Given the description of an element on the screen output the (x, y) to click on. 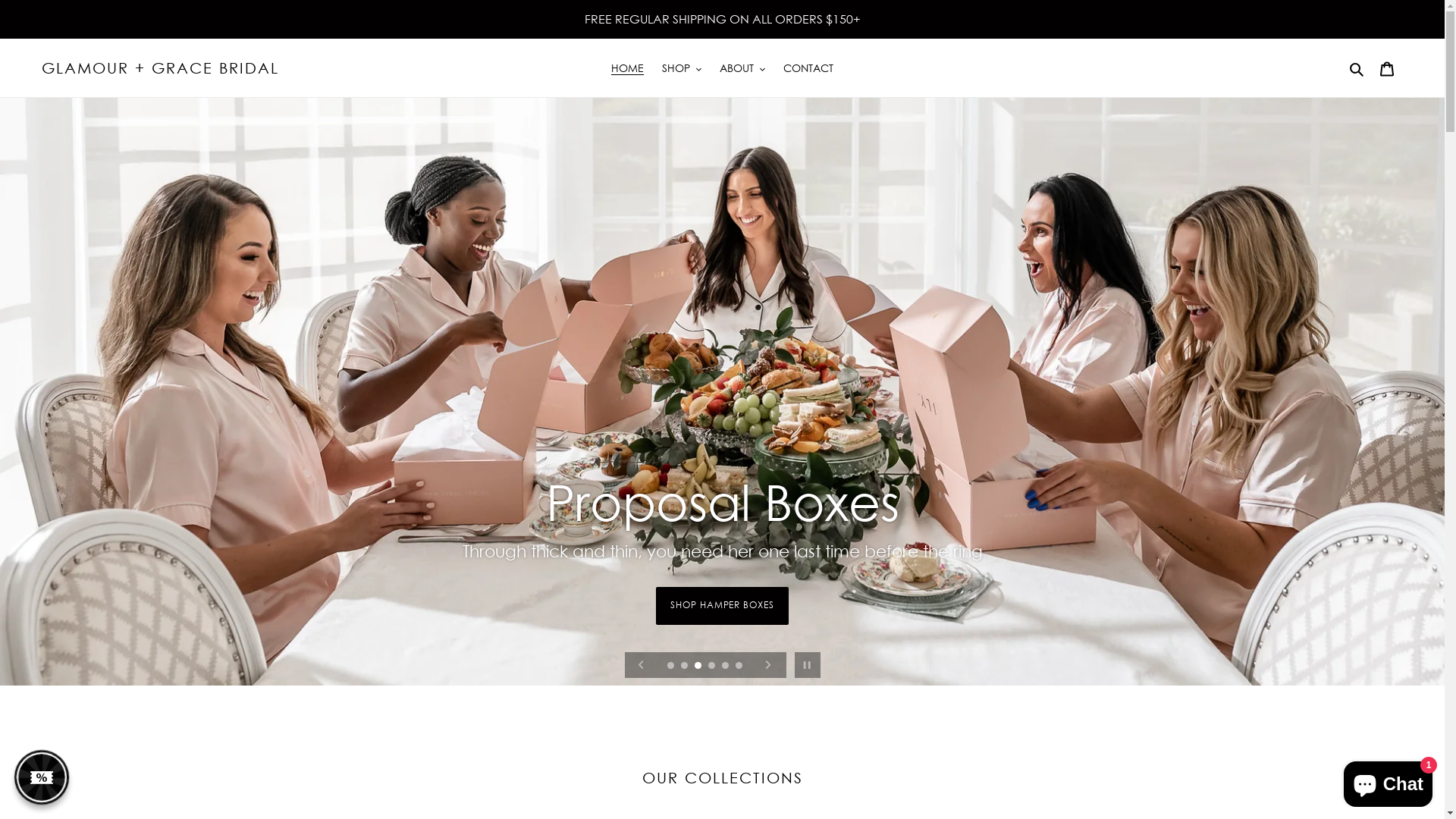
Search Element type: text (1357, 67)
HOME Element type: text (627, 67)
SHOP HAMPER BOXES Element type: text (721, 621)
GLAMOUR + GRACE BRIDAL Element type: text (160, 68)
Pause slideshow Element type: text (806, 664)
CONTACT Element type: text (807, 67)
SHOP Element type: text (681, 67)
ABOUT Element type: text (742, 67)
Shopify online store chat Element type: hover (1388, 780)
Cart Element type: text (1386, 67)
